Given the description of an element on the screen output the (x, y) to click on. 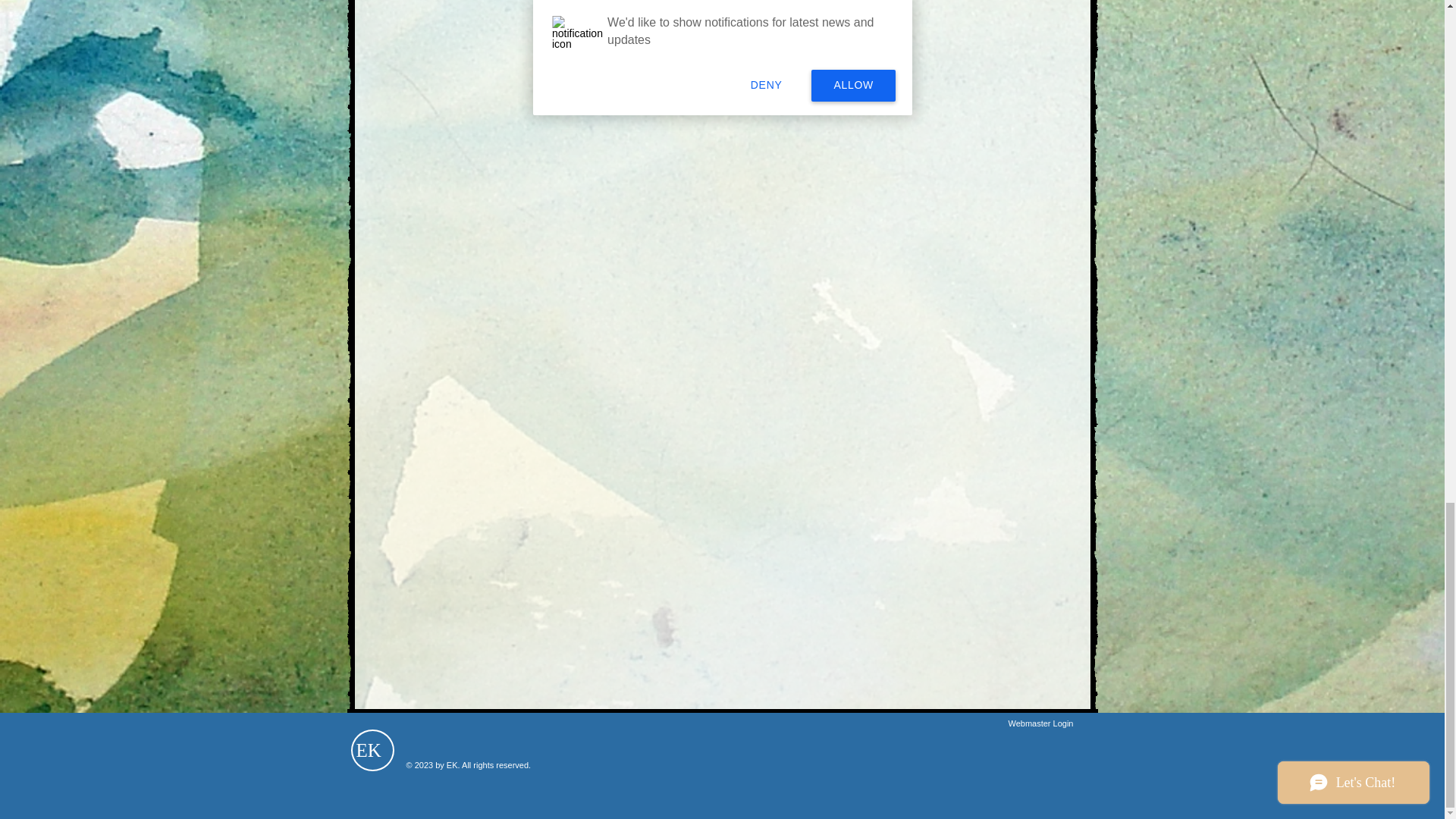
Webmaster Login (1040, 724)
EK (368, 754)
